Given the description of an element on the screen output the (x, y) to click on. 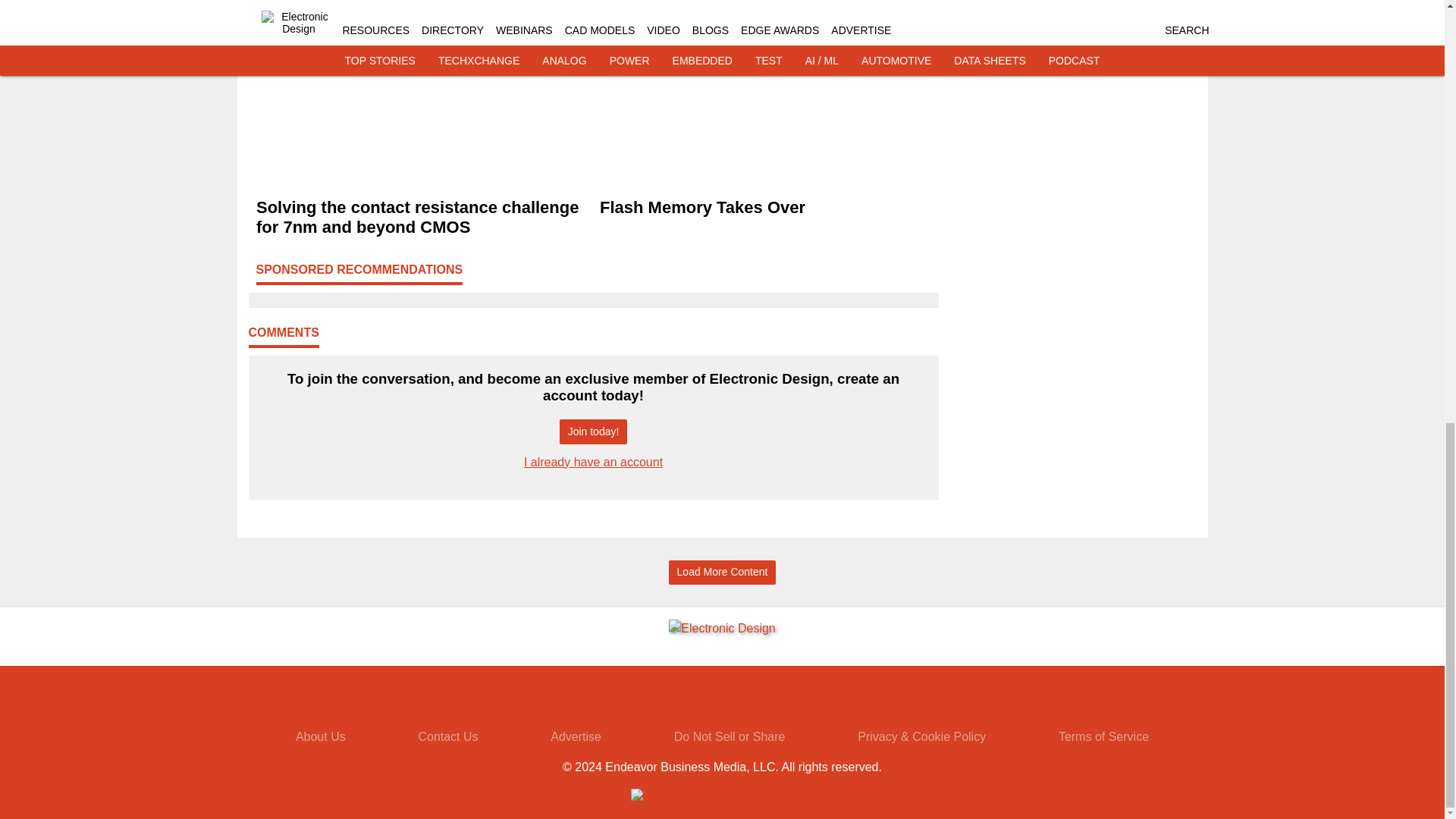
Join today! (593, 431)
Flash Memory Takes Over (764, 207)
I already have an account (593, 461)
